Given the description of an element on the screen output the (x, y) to click on. 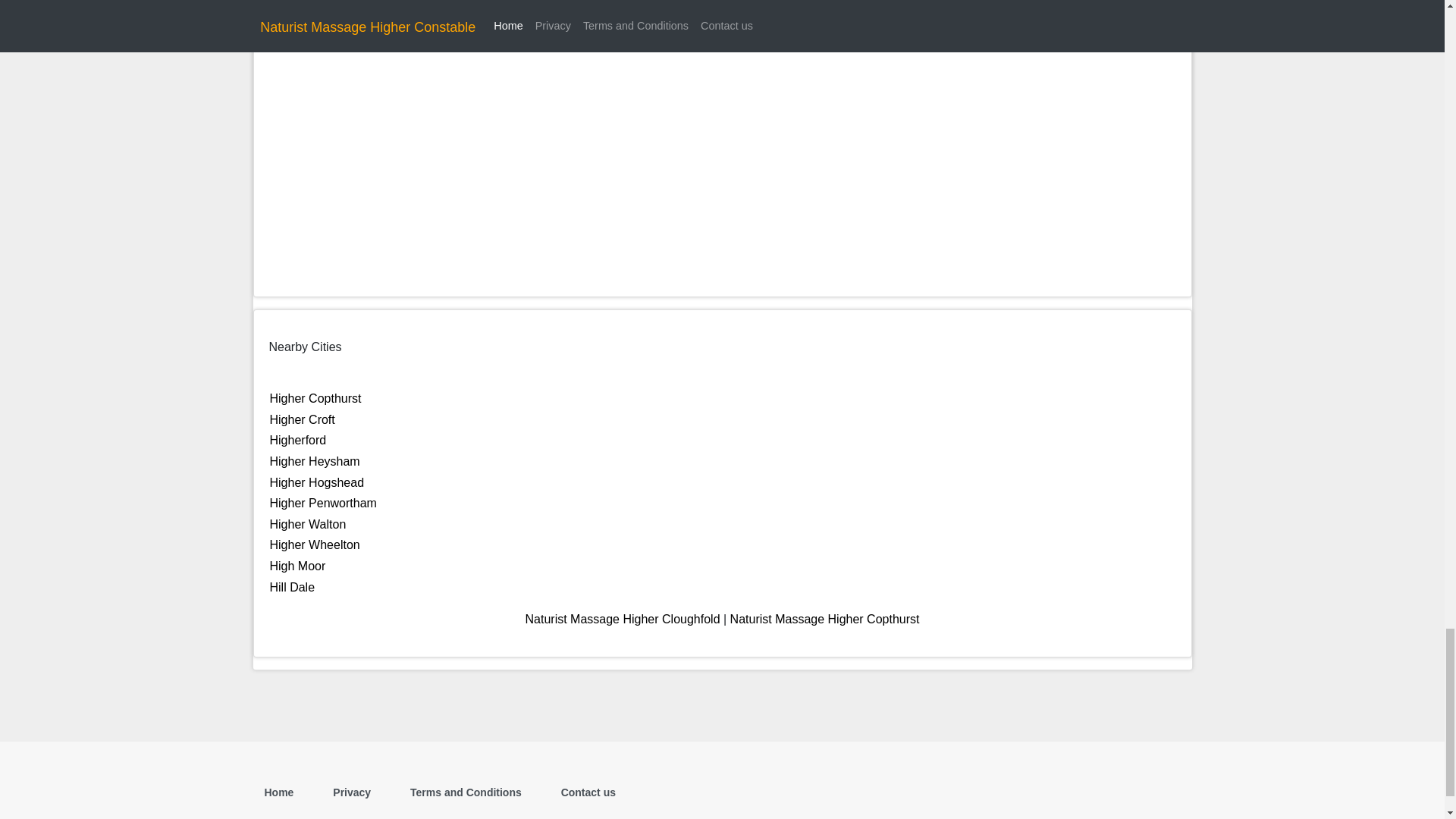
Higher Heysham (314, 461)
Naturist Massage Higher Cloughfold (622, 618)
Hill Dale (292, 585)
Higher Croft (301, 419)
Naturist Massage Higher Copthurst (825, 618)
Higher Wheelton (314, 544)
Higher Copthurst (315, 398)
Higher Walton (307, 523)
Higher Penwortham (323, 502)
Higherford (297, 440)
Higher Hogshead (317, 481)
High Moor (297, 565)
